Given the description of an element on the screen output the (x, y) to click on. 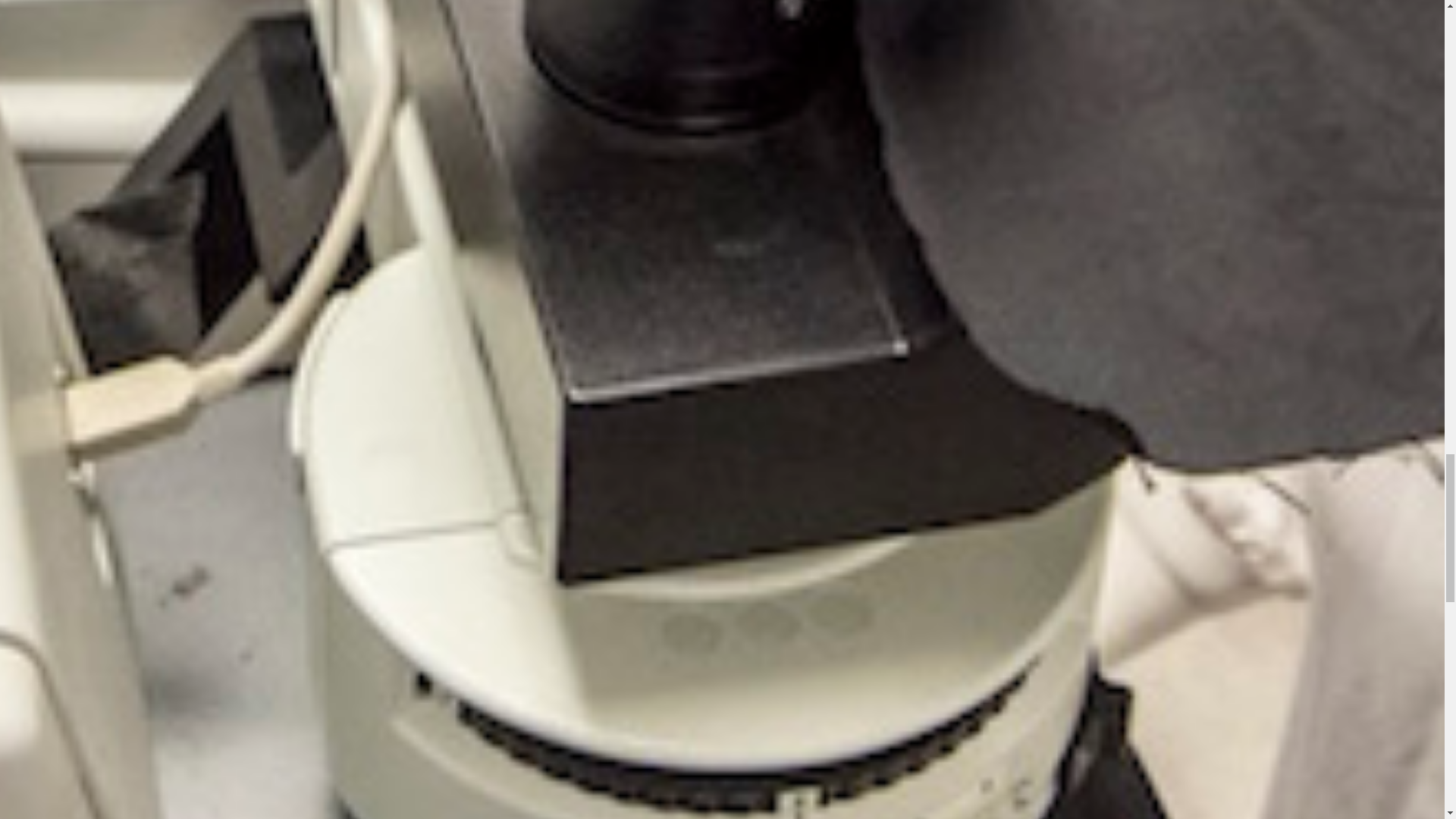
Hoi-Ying Holman (414, 287)
